Given the description of an element on the screen output the (x, y) to click on. 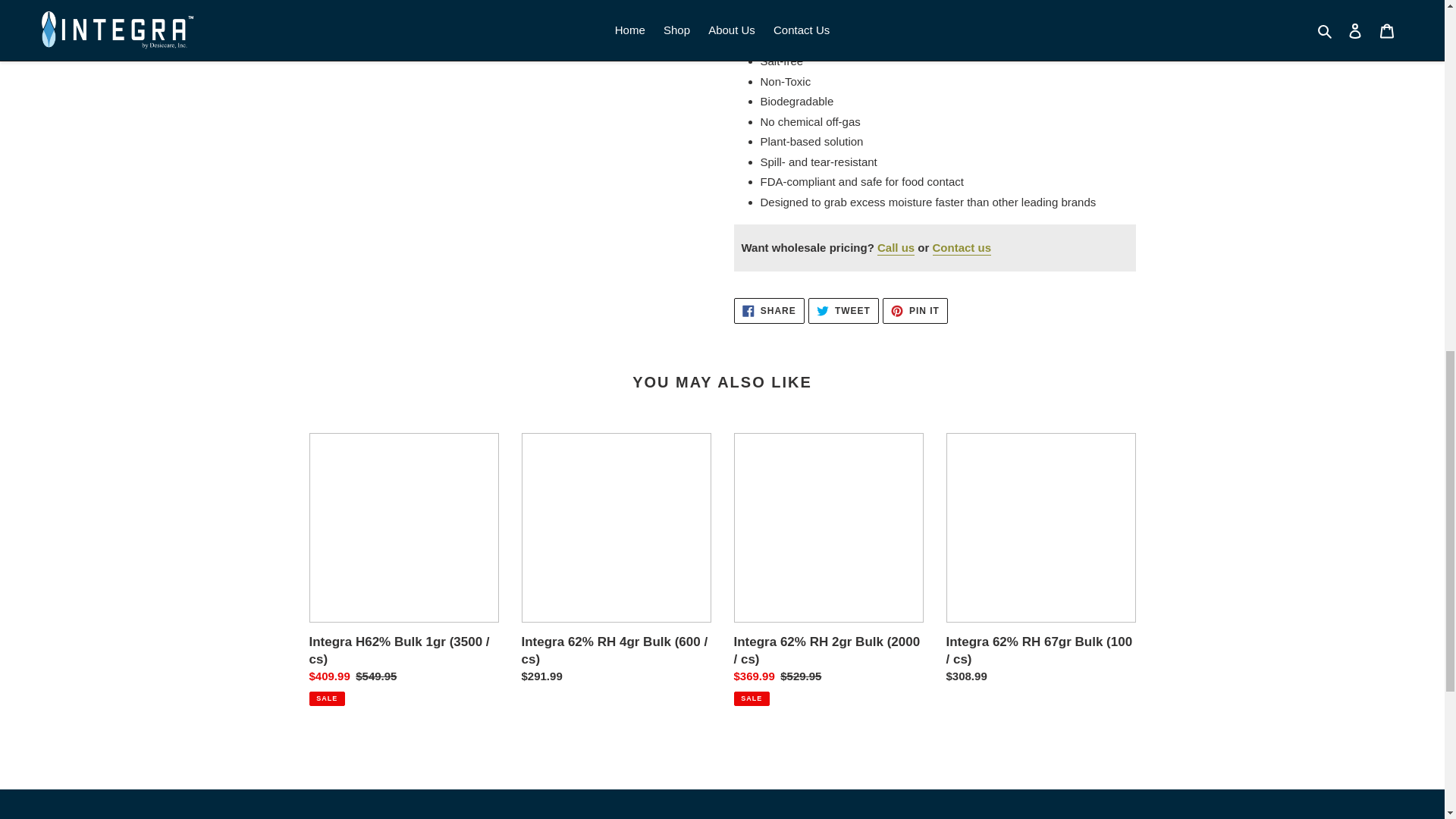
Call us (895, 247)
Contact us (914, 310)
